Given the description of an element on the screen output the (x, y) to click on. 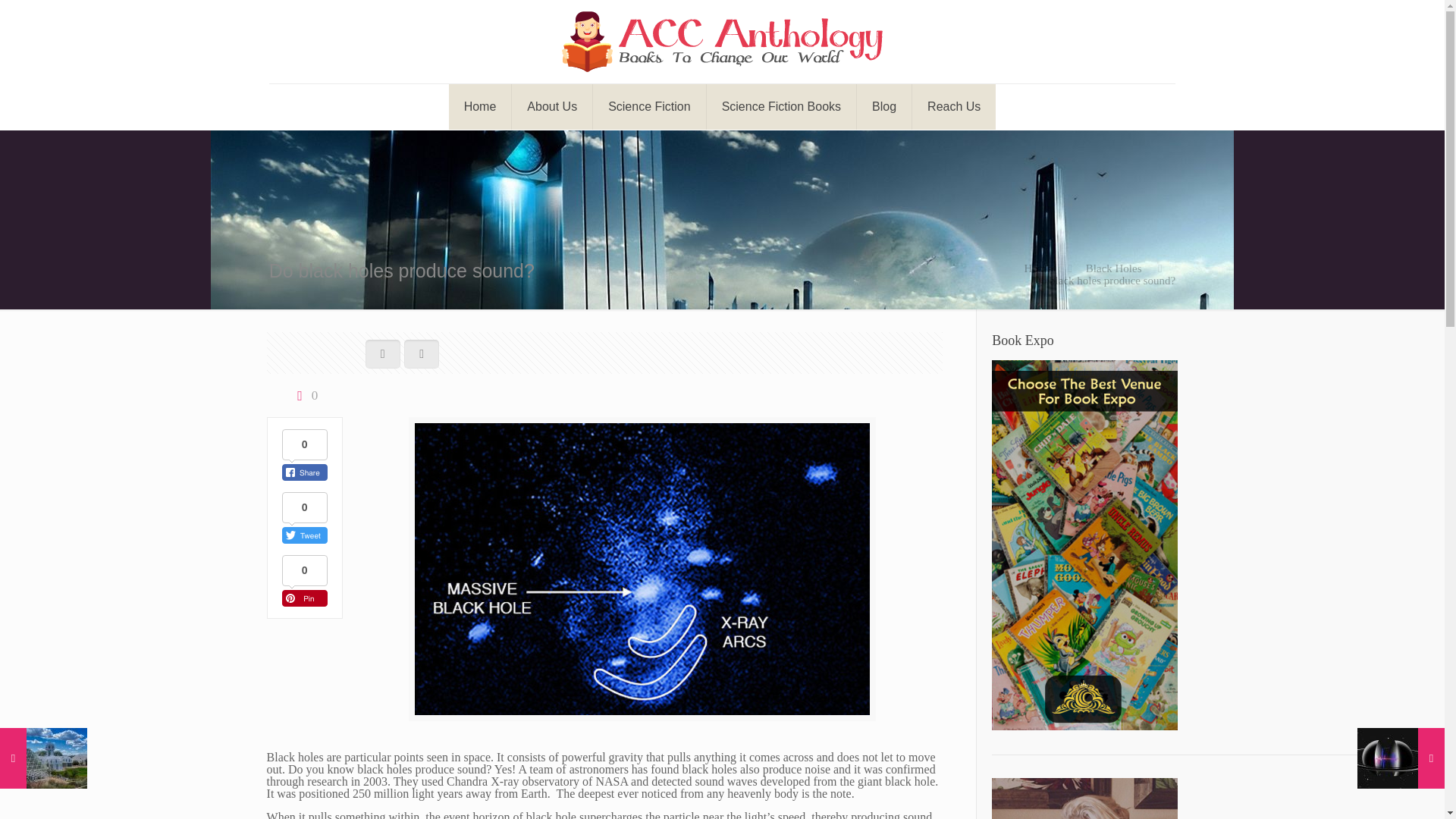
Home (1037, 268)
About Us (552, 106)
Reach Us (953, 106)
Black Holes (1113, 268)
Science Fiction (649, 106)
0 (303, 395)
Science Fiction Books (781, 106)
Home (480, 106)
Blog (884, 106)
ACC Anthology (722, 41)
